Given the description of an element on the screen output the (x, y) to click on. 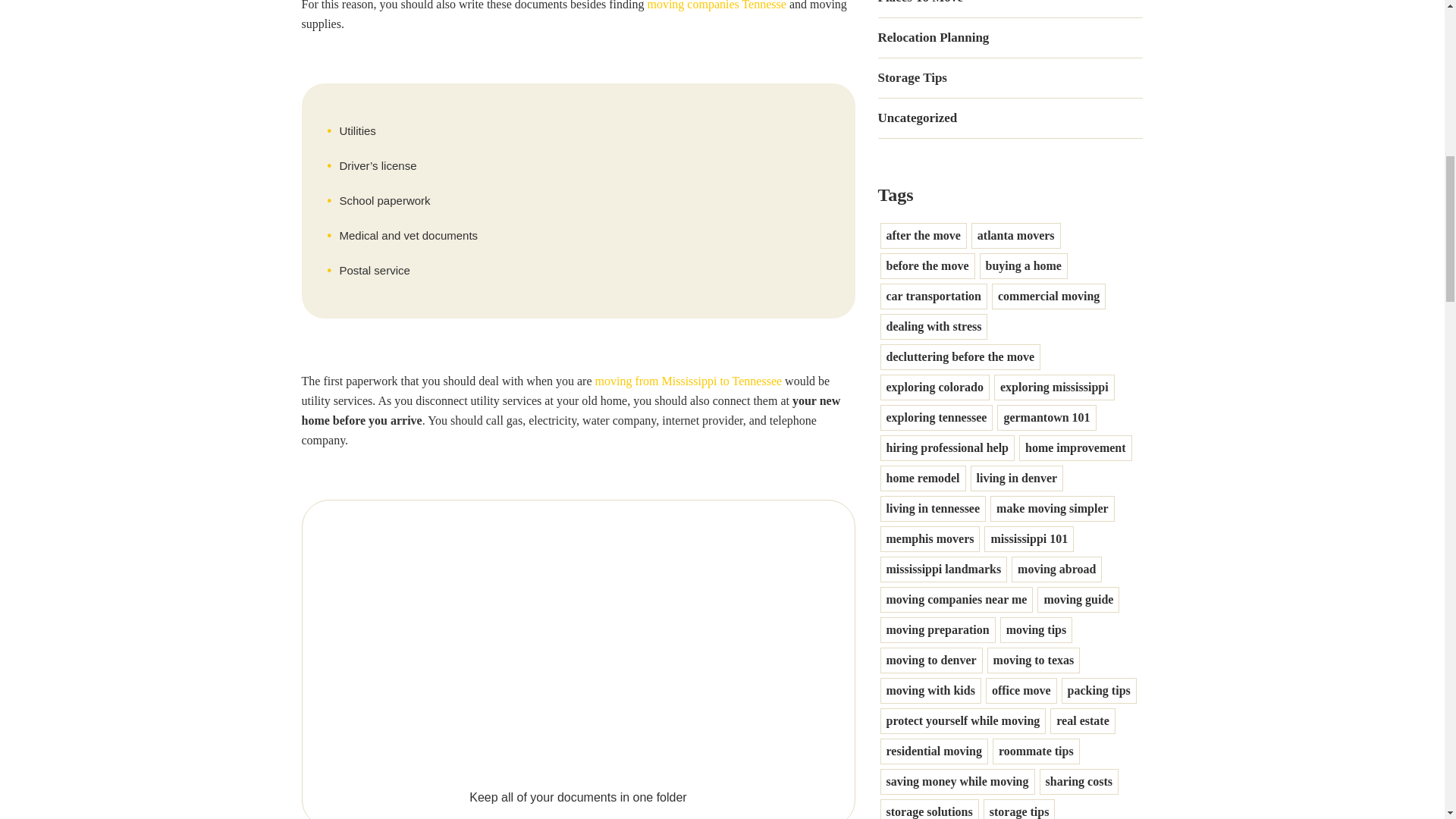
moving companies Tennesse (716, 5)
moving from Mississippi to Tennessee (689, 380)
